Given the description of an element on the screen output the (x, y) to click on. 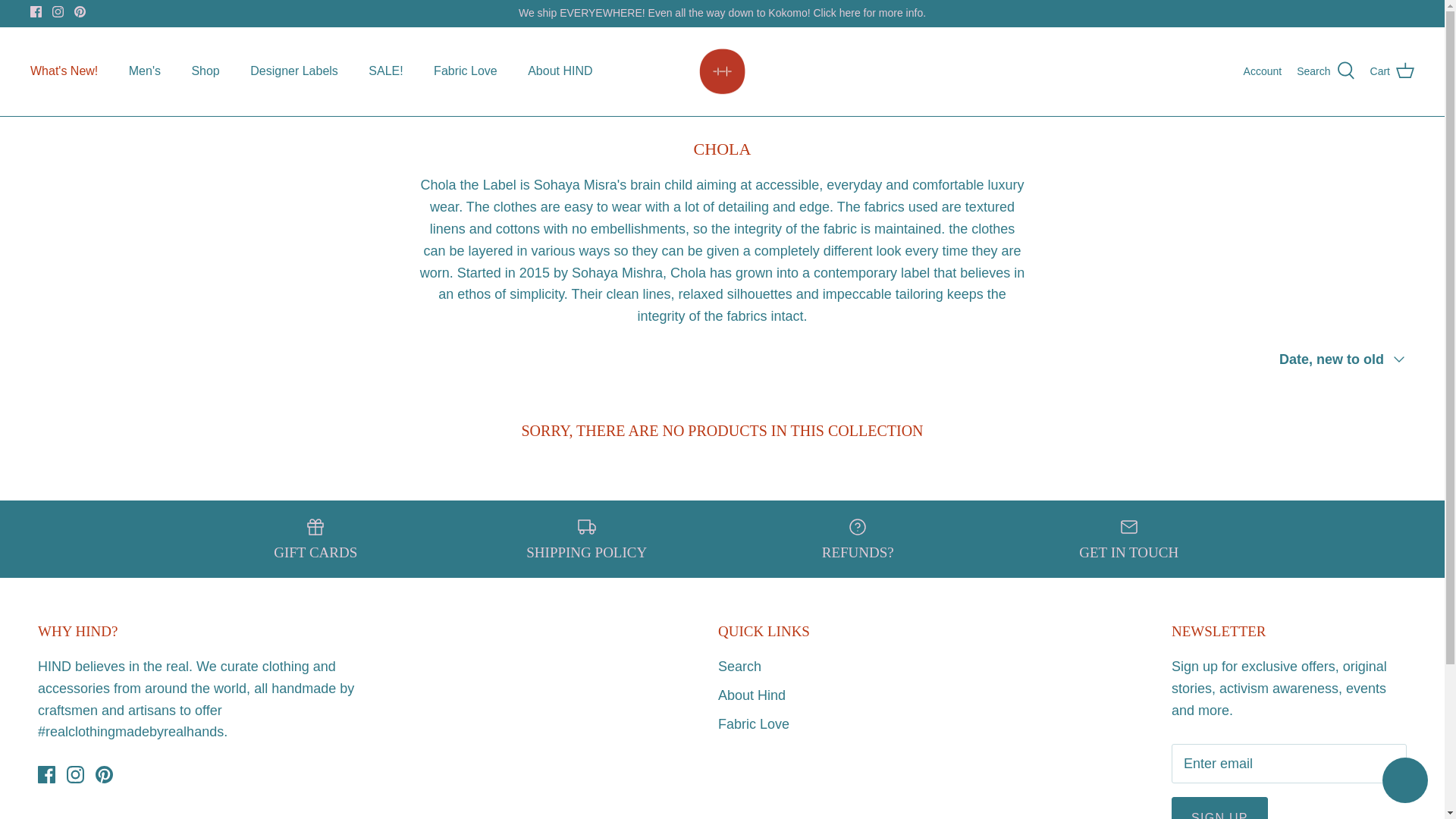
Designer Labels (293, 71)
Cart (1391, 71)
Account (1262, 71)
Search (1325, 71)
HIND (722, 71)
Fabric Love (465, 71)
Shopify online store chat (1404, 781)
Men's (144, 71)
Instagram (58, 11)
Facebook (46, 773)
